Given the description of an element on the screen output the (x, y) to click on. 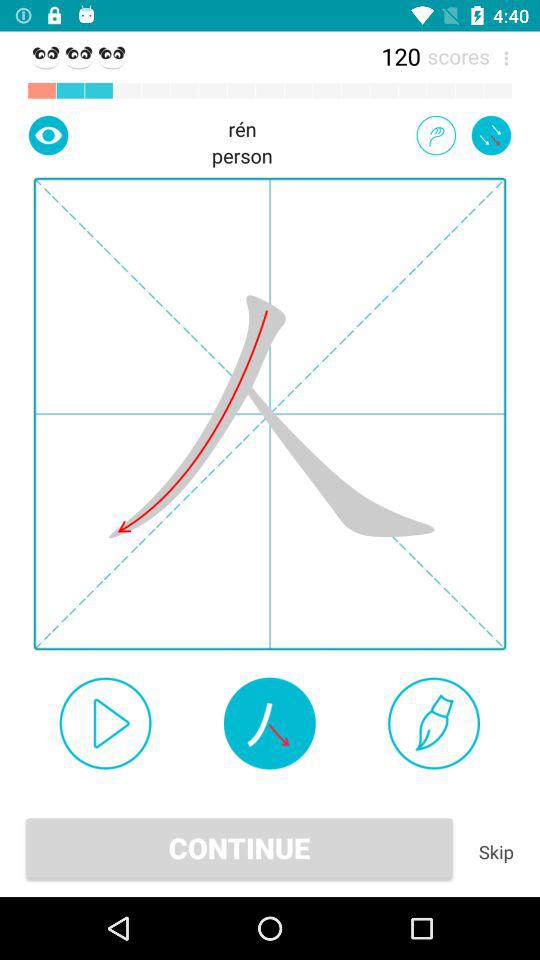
confirm (105, 723)
